Given the description of an element on the screen output the (x, y) to click on. 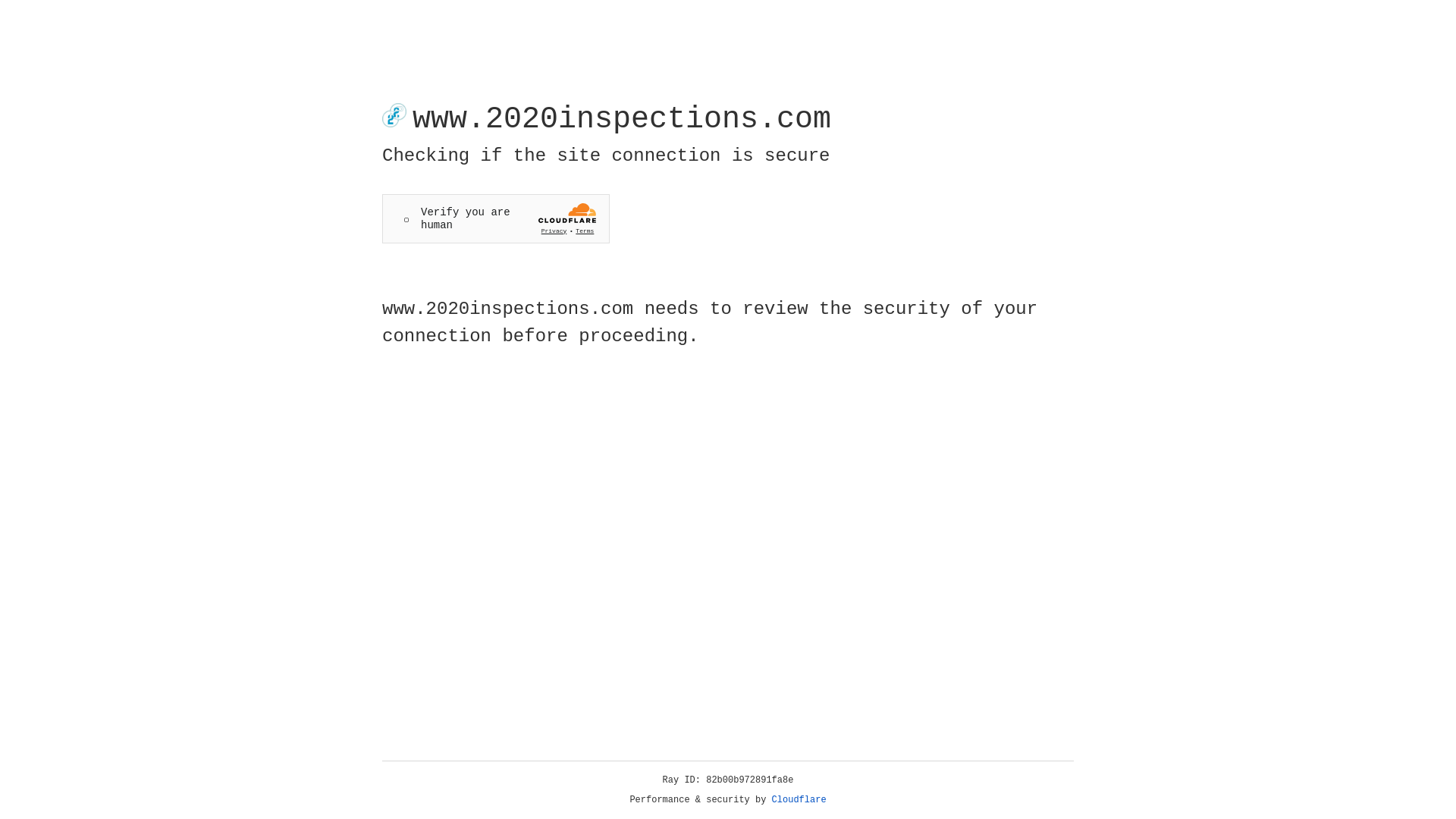
Widget containing a Cloudflare security challenge Element type: hover (495, 218)
Cloudflare Element type: text (798, 799)
